Given the description of an element on the screen output the (x, y) to click on. 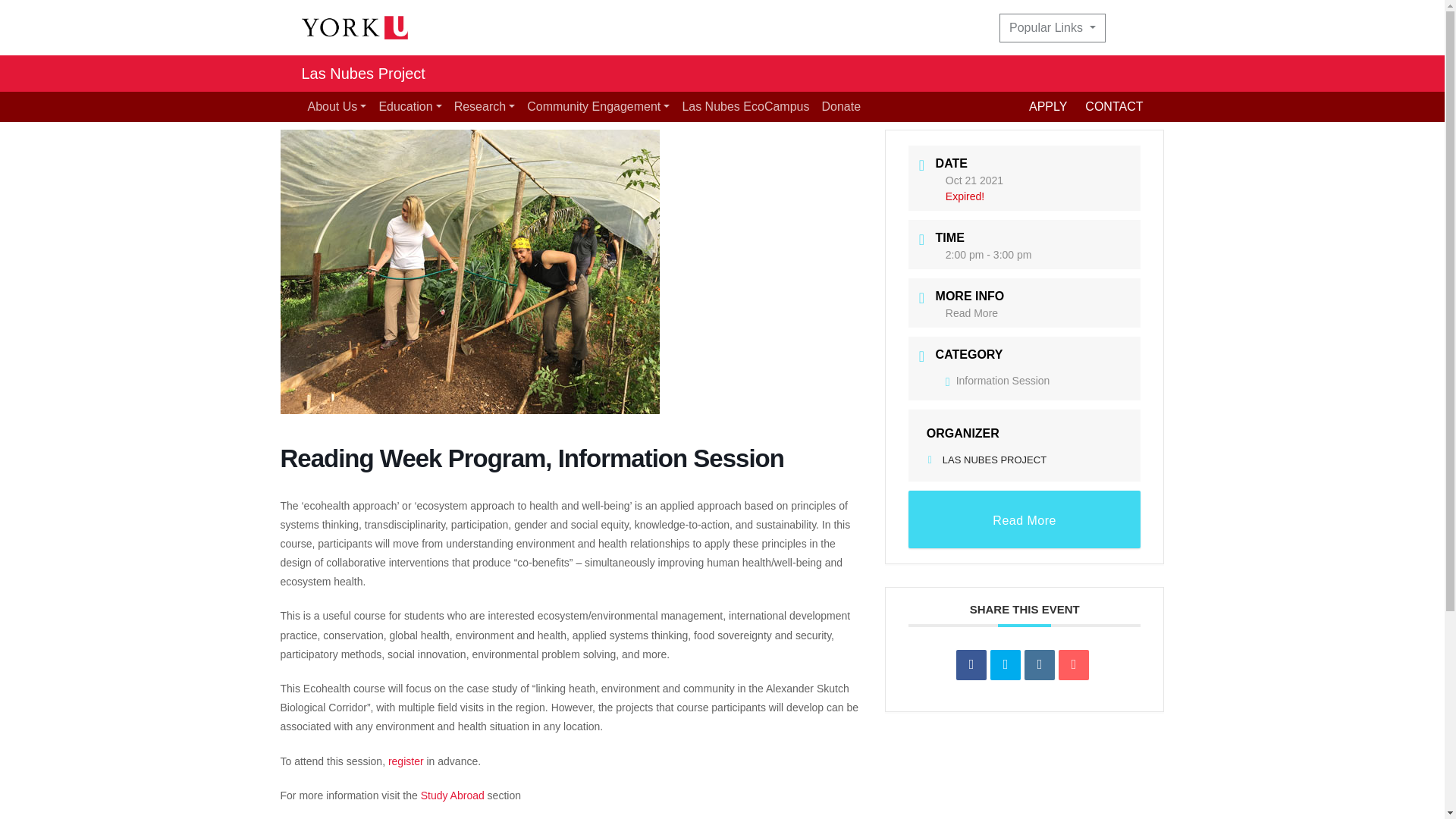
About Us (336, 106)
Linkedin (1039, 665)
APPLY (1056, 106)
Las Nubes EcoCampus (745, 106)
register (405, 761)
Popular Links (1051, 27)
Search (1133, 27)
Email (1073, 665)
Las Nubes Project (363, 73)
Donate (840, 106)
Study Abroad (452, 795)
Research (484, 106)
Share on Facebook (971, 665)
Tweet (1005, 665)
CONTACT (1113, 106)
